Given the description of an element on the screen output the (x, y) to click on. 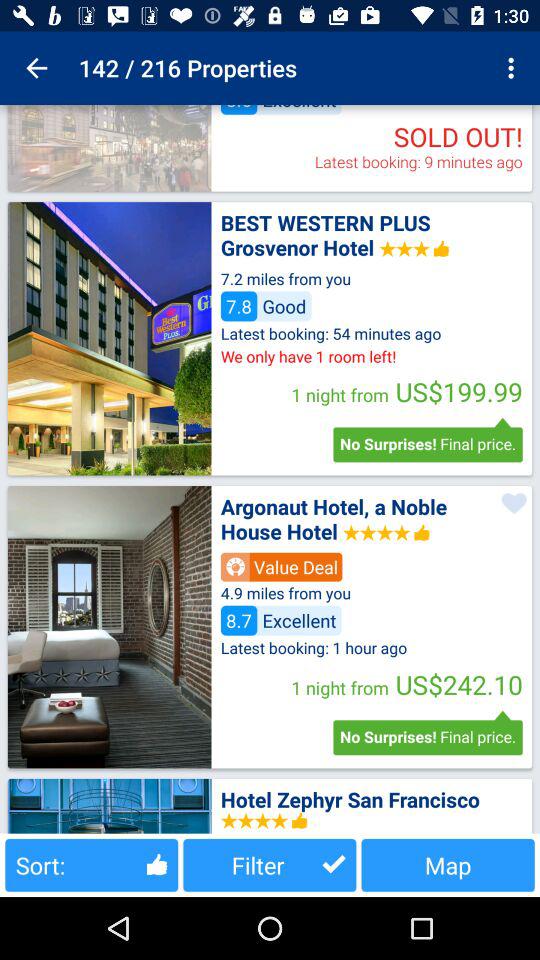
flip until the filter (269, 864)
